Given the description of an element on the screen output the (x, y) to click on. 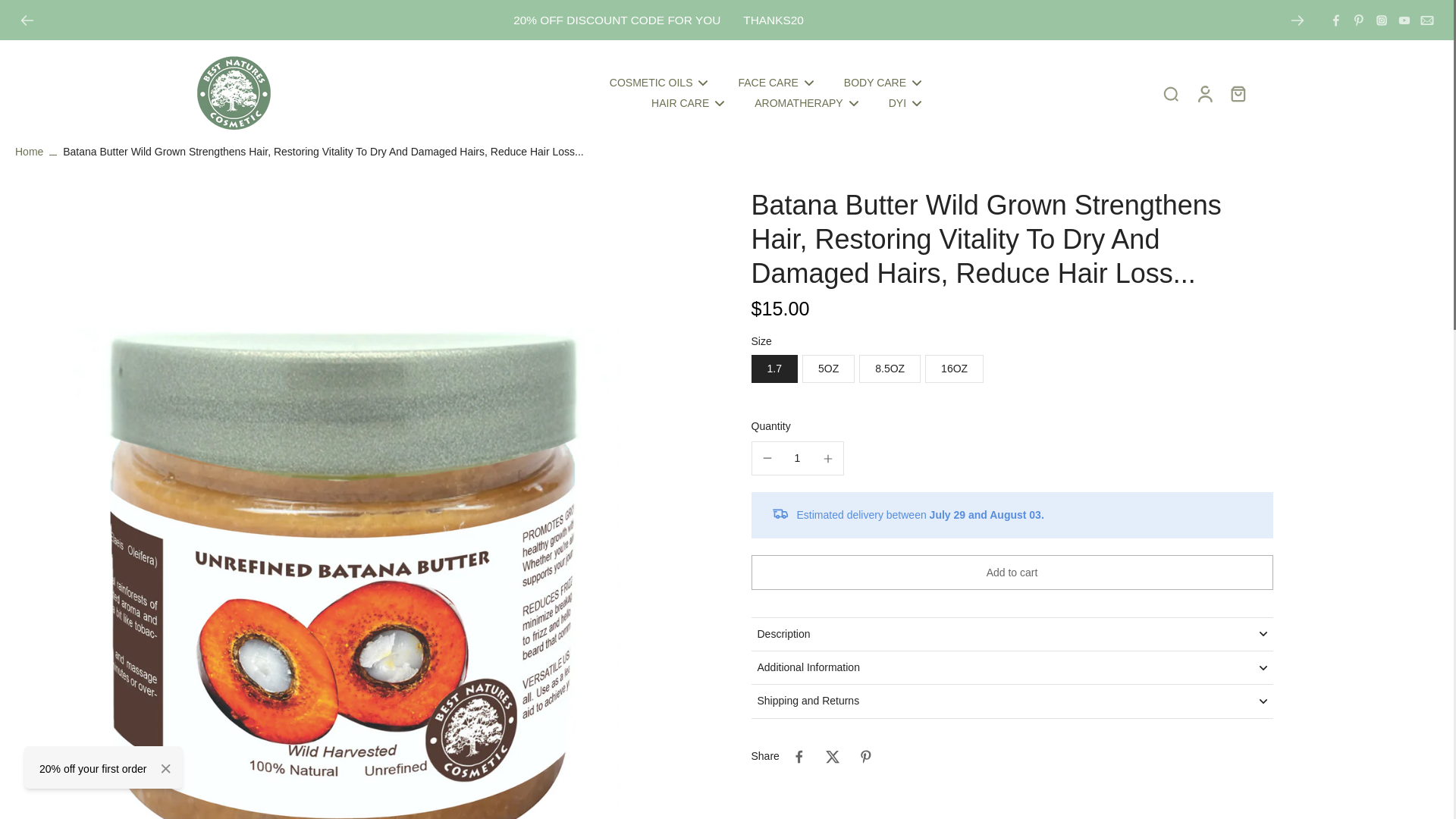
HAIR CARE (686, 103)
THANKS20 (772, 20)
Skip to content (19, 10)
1 (797, 458)
BODY CARE (882, 82)
Home (28, 151)
FACE CARE (775, 82)
COSMETIC OILS (658, 82)
AROMATHERAPY (805, 103)
